Given the description of an element on the screen output the (x, y) to click on. 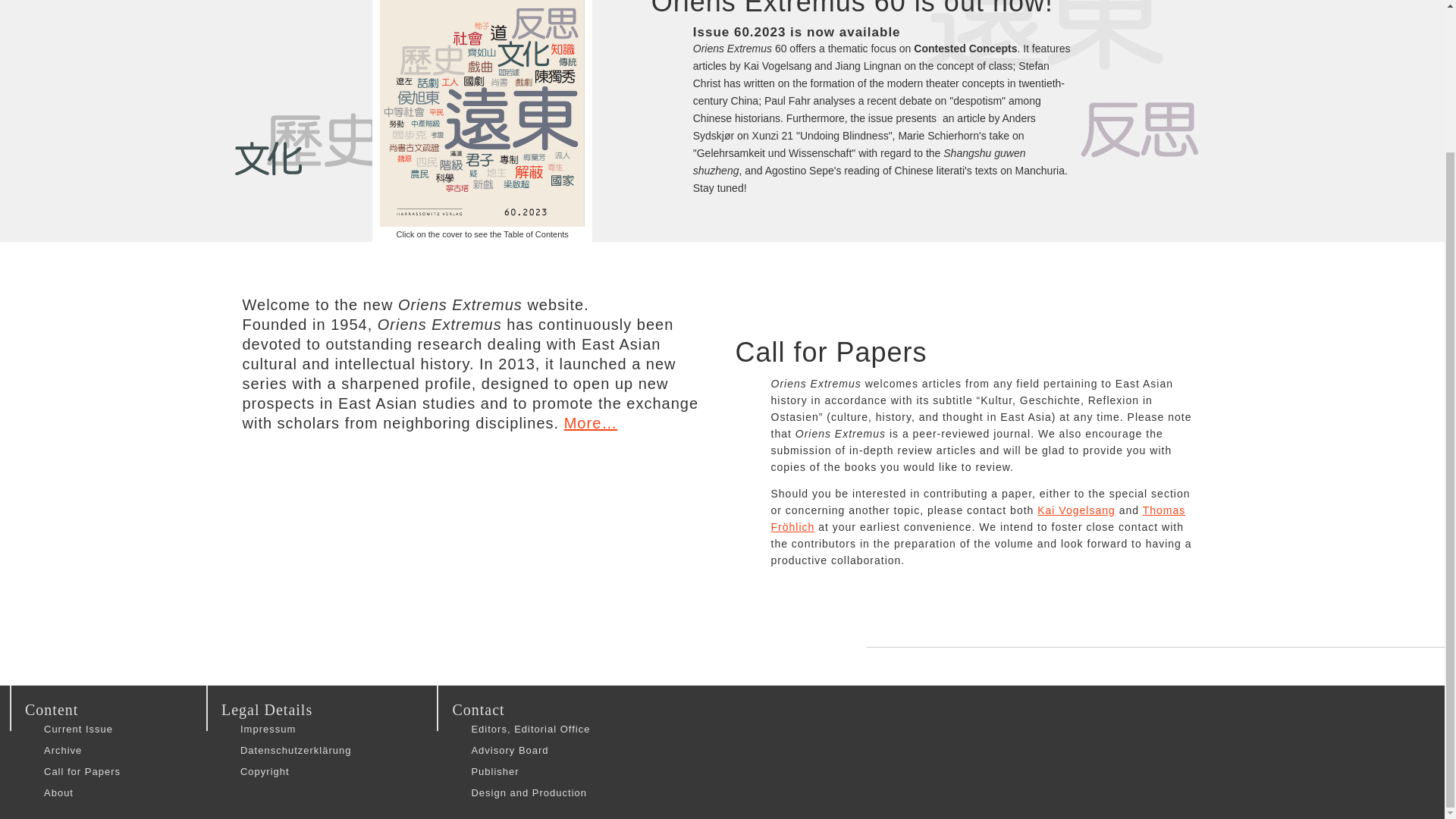
Kai Vogelsang (1075, 510)
Copyright (295, 771)
Archive (81, 749)
About (81, 792)
Call for Papers (81, 771)
Current Issue (81, 728)
Click on the cover to see the Table of Contents (482, 120)
Impressum (295, 728)
